Given the description of an element on the screen output the (x, y) to click on. 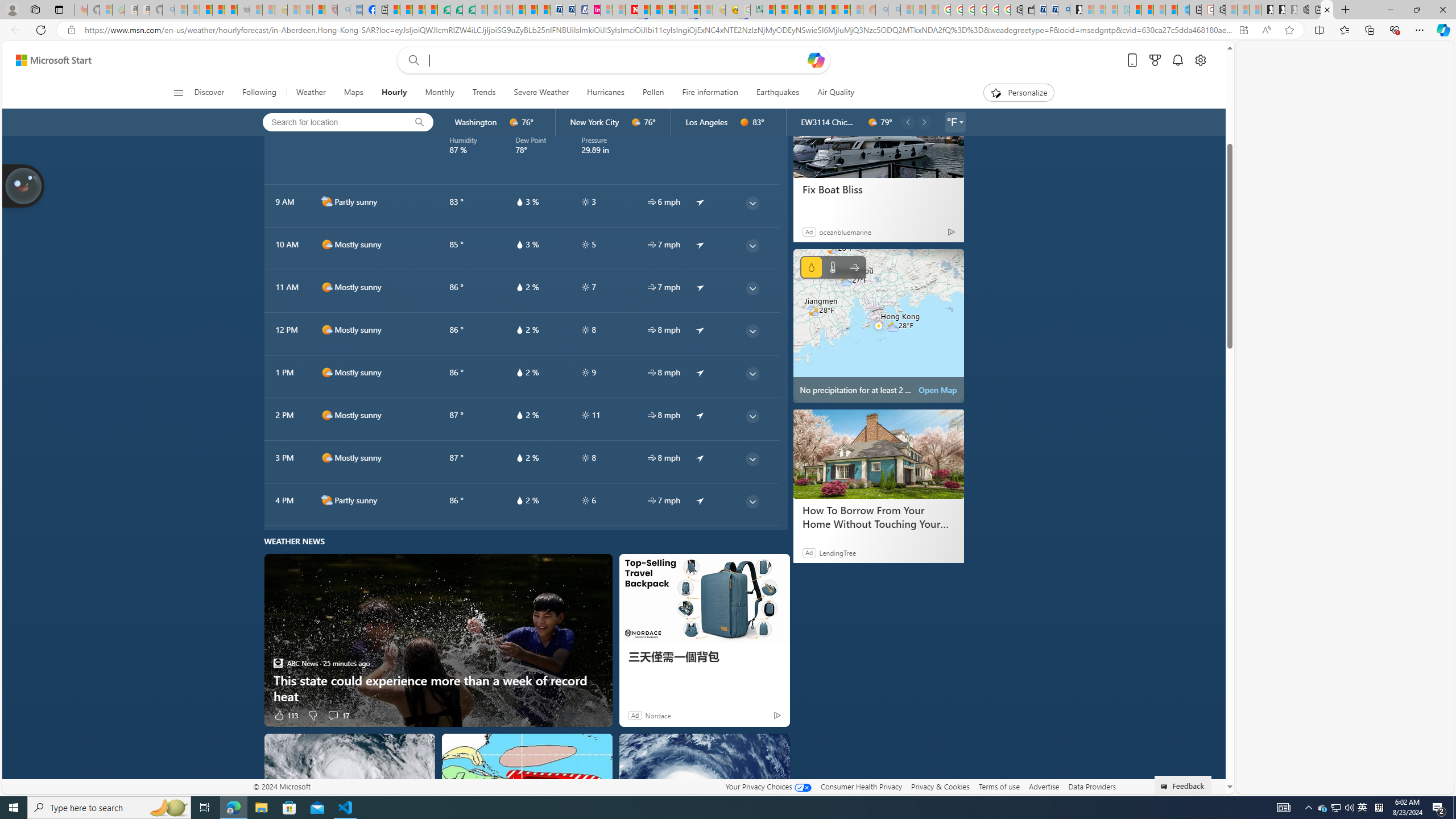
Fix Boat Bliss (878, 189)
Join us in planting real trees to help our planet! (23, 185)
Data Providers (1091, 786)
